Given the description of an element on the screen output the (x, y) to click on. 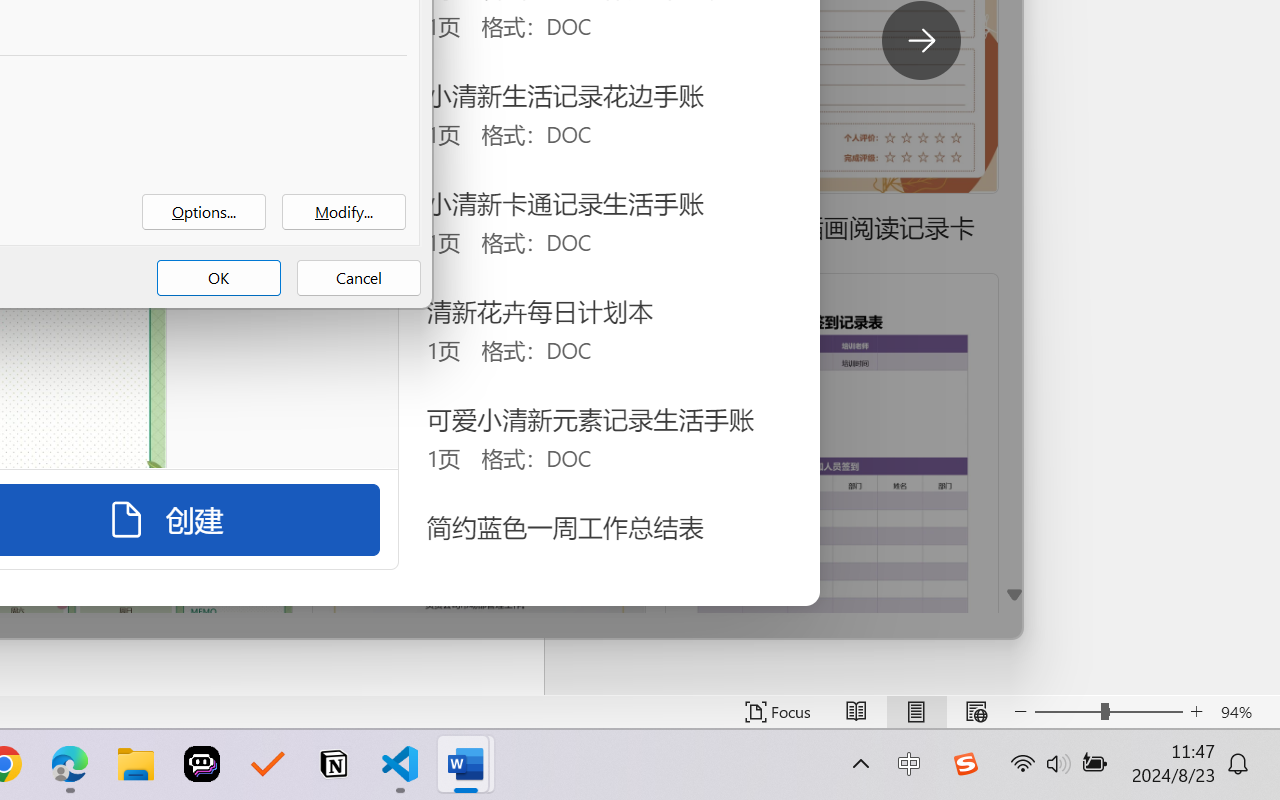
Options... (203, 211)
OK (218, 277)
